Given the description of an element on the screen output the (x, y) to click on. 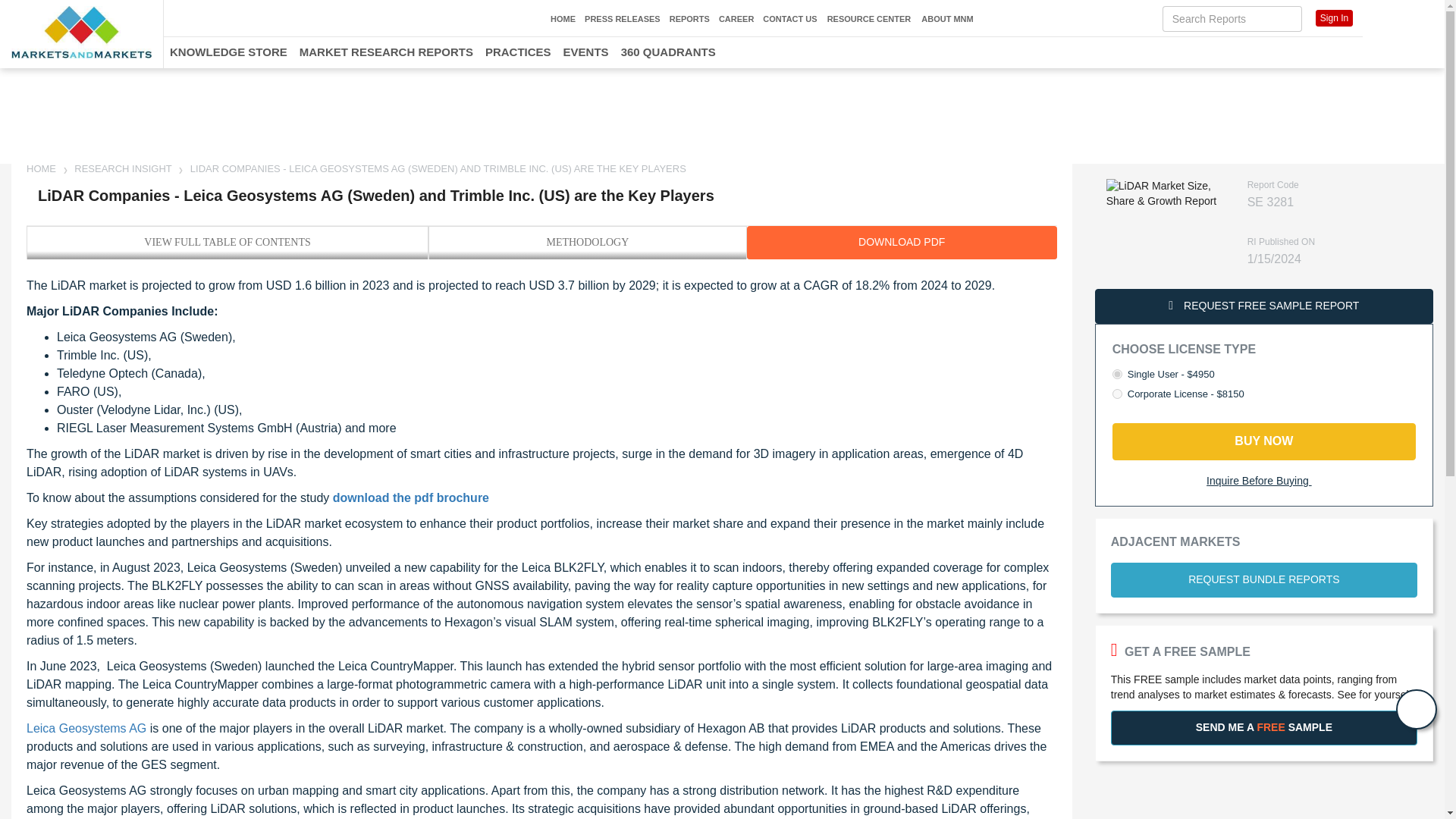
Leica Geosystems AG (86, 727)
Sign In (1334, 17)
CONTACT US (789, 18)
BUY NOW (1263, 441)
Research Insight (122, 168)
ABOUT MNM (947, 19)
download the pdf brochure (411, 497)
SEND ME A FREE SAMPLE (1263, 727)
REQUEST BUNDLE REPORTS (1263, 579)
DOWNLOAD PDF (901, 242)
Market Research Firm (42, 168)
Market Research Firm (81, 31)
on (1117, 393)
View Full TABLE OF Contents (227, 242)
